Given the description of an element on the screen output the (x, y) to click on. 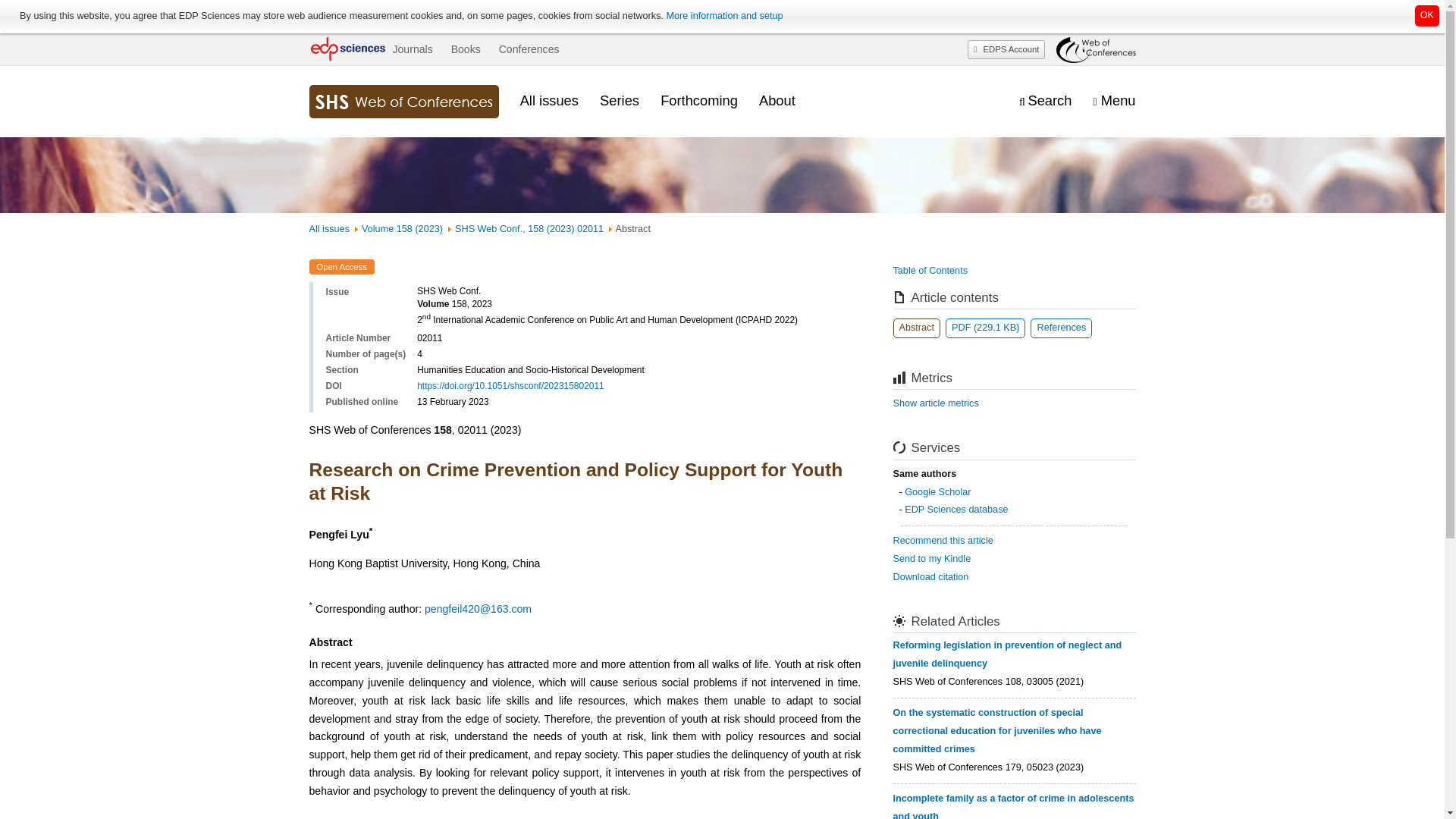
OK (1427, 15)
Books (465, 49)
Display the search engine (1045, 101)
Click to close this notification (1427, 15)
More information and setup (724, 15)
Journal homepage (403, 101)
Conferences (529, 49)
Abstract (916, 328)
Journals (411, 49)
